Given the description of an element on the screen output the (x, y) to click on. 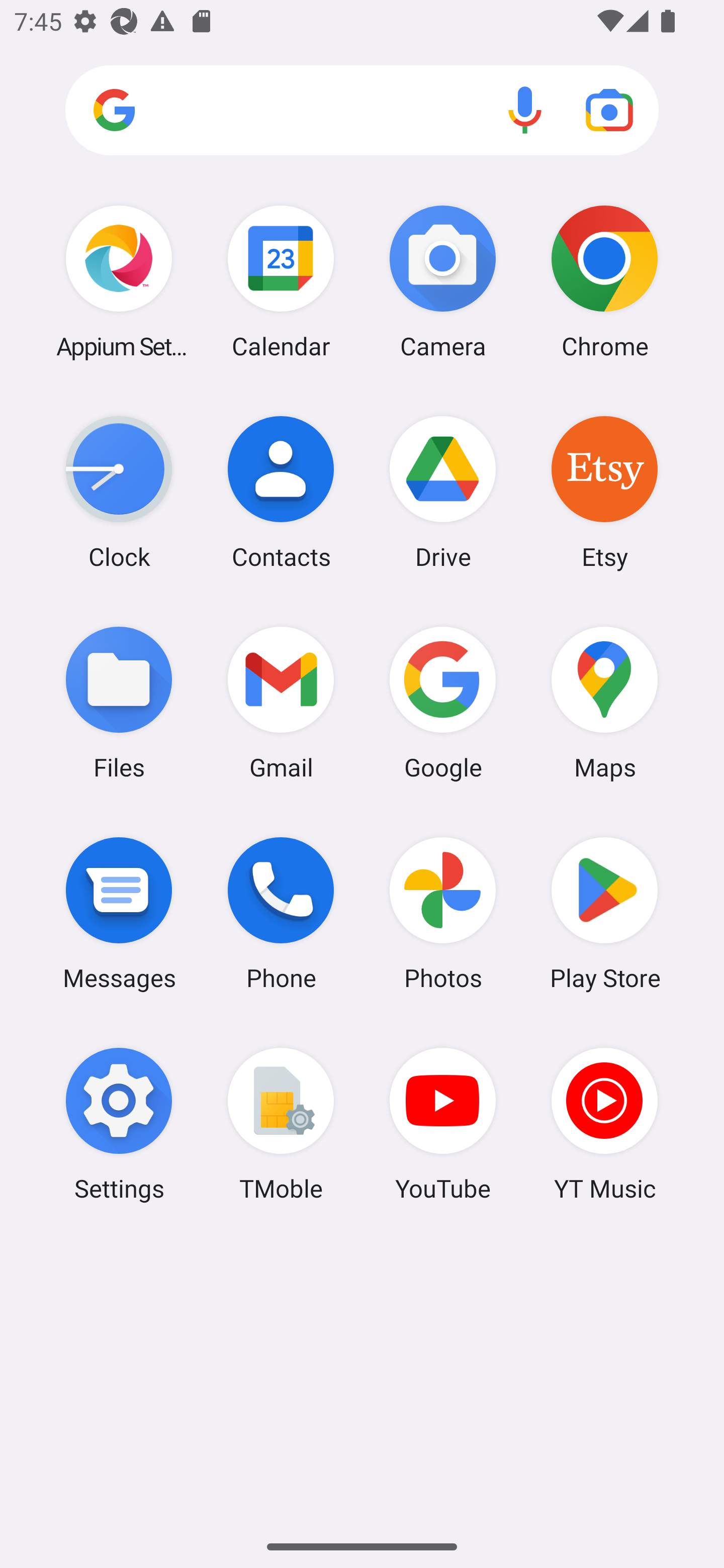
Search apps, web and more (361, 110)
Voice search (524, 109)
Google Lens (608, 109)
Appium Settings (118, 281)
Calendar (280, 281)
Camera (443, 281)
Chrome (604, 281)
Clock (118, 492)
Contacts (280, 492)
Drive (443, 492)
Etsy (604, 492)
Files (118, 702)
Gmail (280, 702)
Google (443, 702)
Maps (604, 702)
Messages (118, 913)
Phone (280, 913)
Photos (443, 913)
Play Store (604, 913)
Settings (118, 1124)
TMoble (280, 1124)
YouTube (443, 1124)
YT Music (604, 1124)
